Given the description of an element on the screen output the (x, y) to click on. 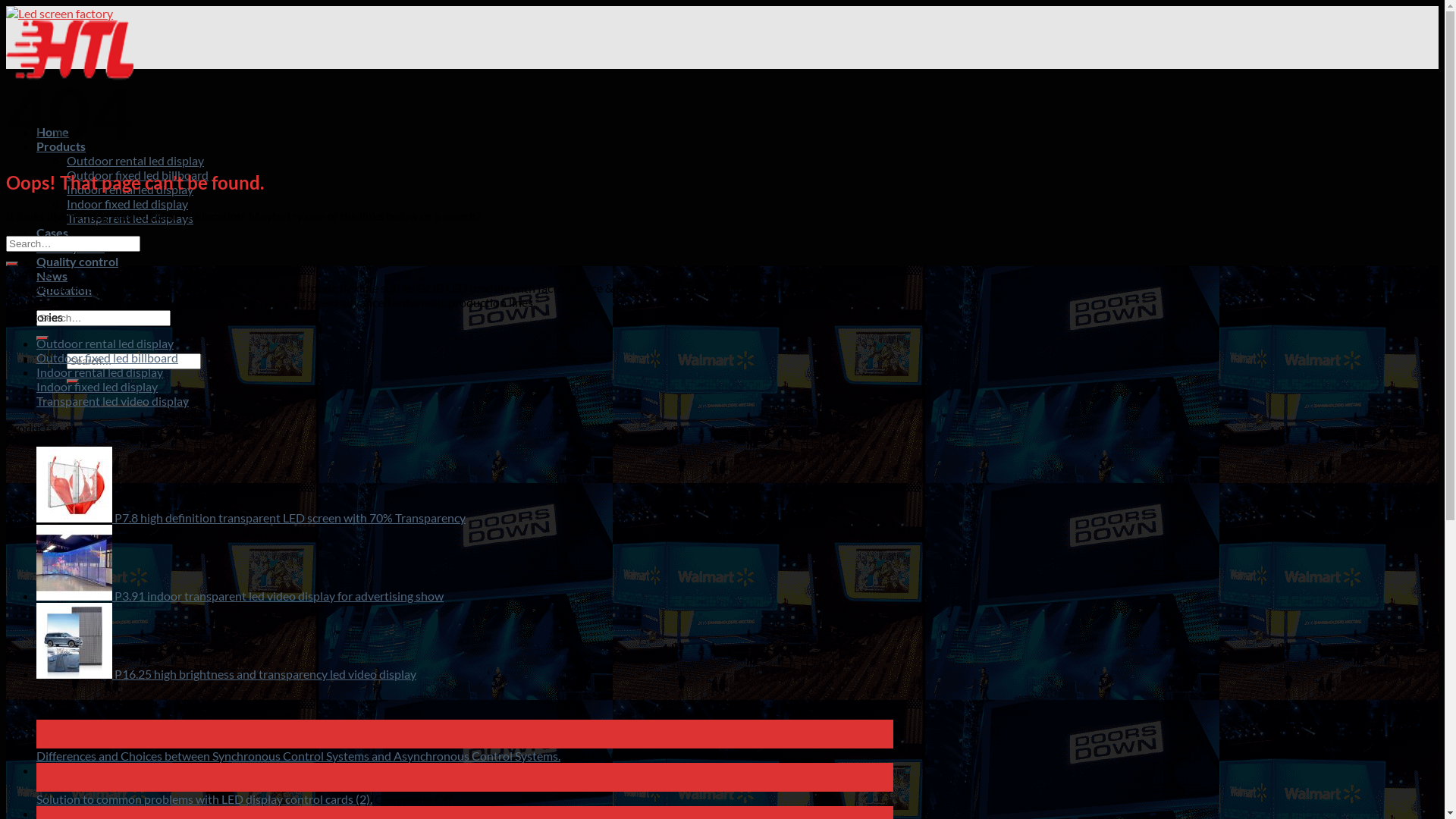
Home Element type: text (52, 131)
Products Element type: text (60, 145)
Indoor rental led display Element type: text (99, 371)
Search Element type: text (42, 337)
Quotation Element type: text (63, 289)
Outdoor rental led display Element type: text (134, 160)
Transparent led displays Element type: text (129, 217)
Cases Element type: text (52, 232)
P16.25 high brightness and transparency led video display Element type: text (226, 673)
Outdoor fixed led billboard Element type: text (137, 174)
Outdoor rental led display Element type: text (104, 342)
Indoor fixed led display Element type: text (96, 386)
Search Element type: text (72, 381)
Led screen factory Element type: hover (69, 45)
Transparent led video display Element type: text (112, 400)
Quality control Element type: text (77, 261)
Skip to content Element type: text (5, 5)
Outdoor fixed led billboard Element type: text (107, 357)
Indoor rental led display Element type: text (129, 189)
Factory tour Element type: text (70, 246)
Indoor fixed led display Element type: text (127, 203)
News Element type: text (51, 275)
